Given the description of an element on the screen output the (x, y) to click on. 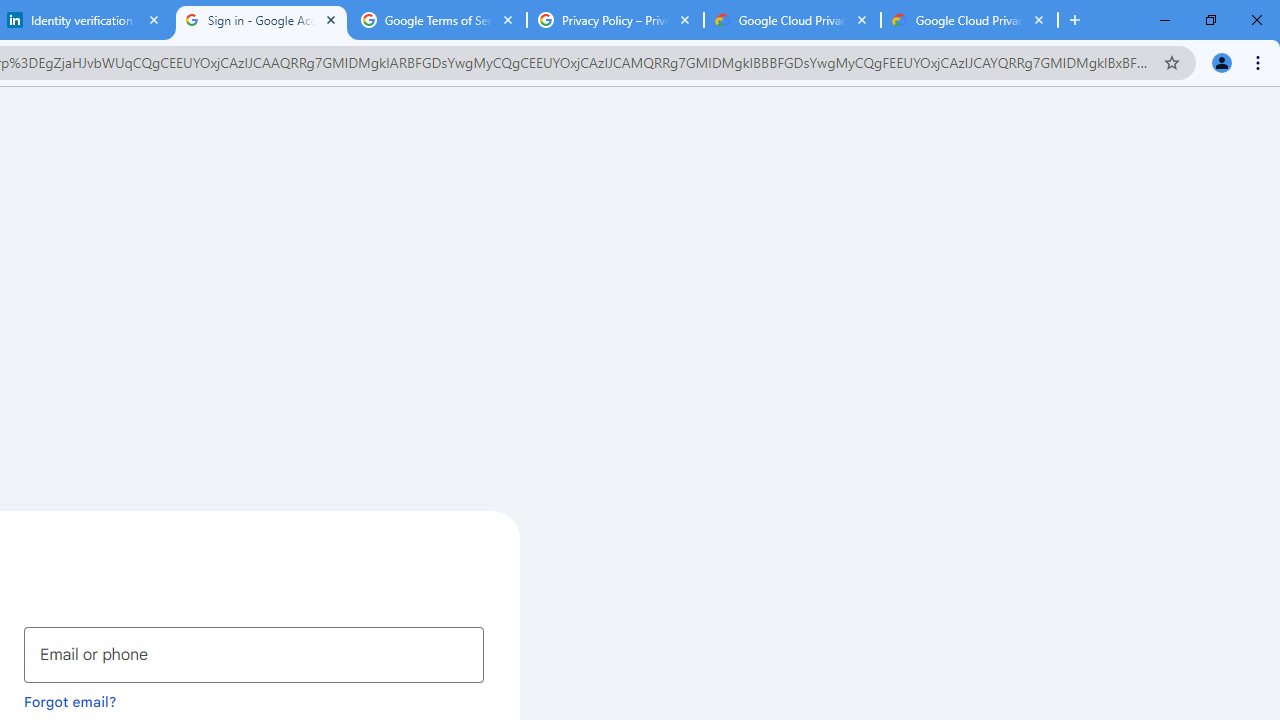
Sign in - Google Accounts (260, 20)
Email or phone (253, 654)
Google Cloud Privacy Notice (792, 20)
Google Cloud Privacy Notice (969, 20)
Forgot email? (70, 701)
